Given the description of an element on the screen output the (x, y) to click on. 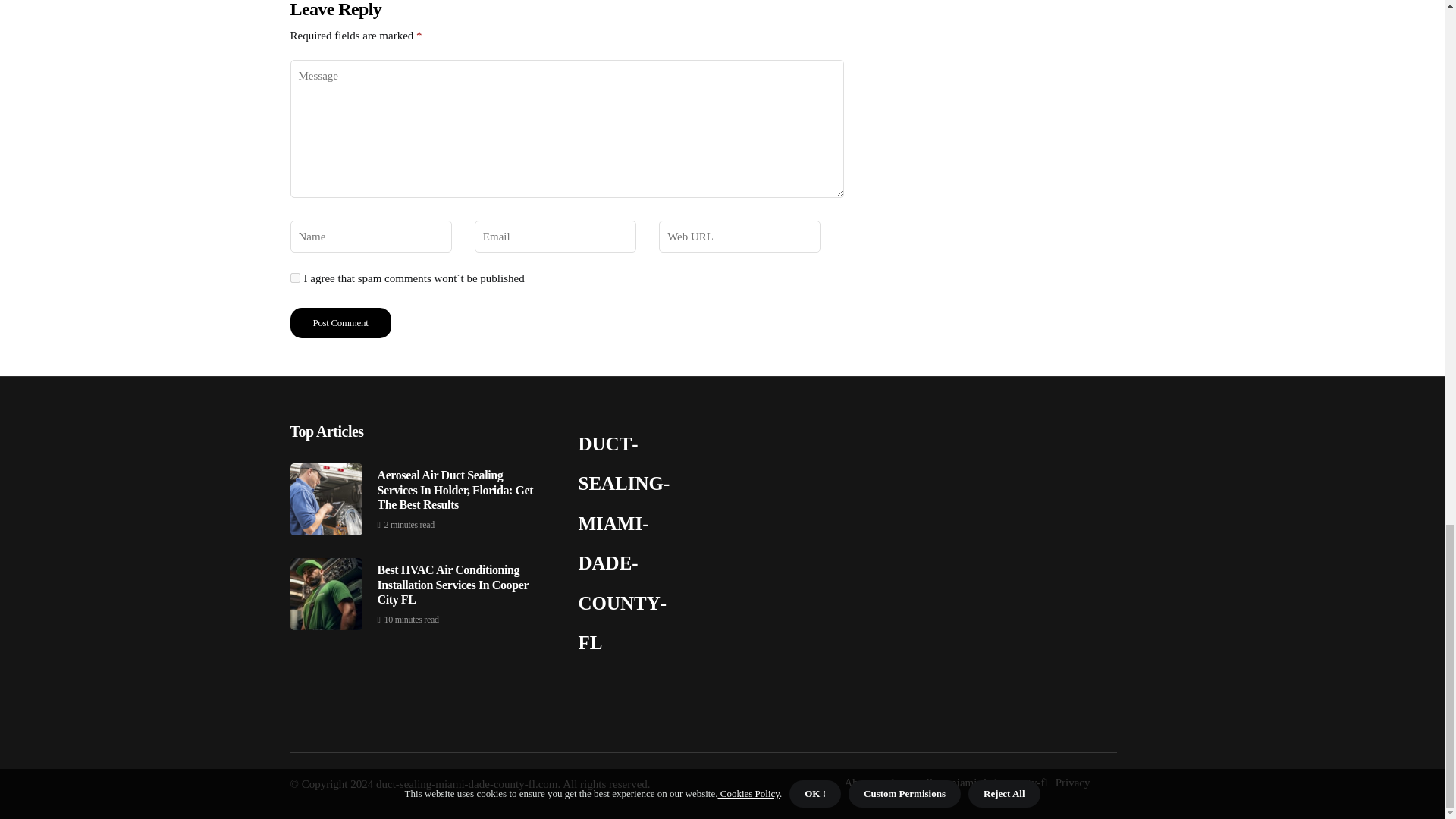
Post Comment (339, 322)
yes (294, 277)
Post Comment (339, 322)
